Given the description of an element on the screen output the (x, y) to click on. 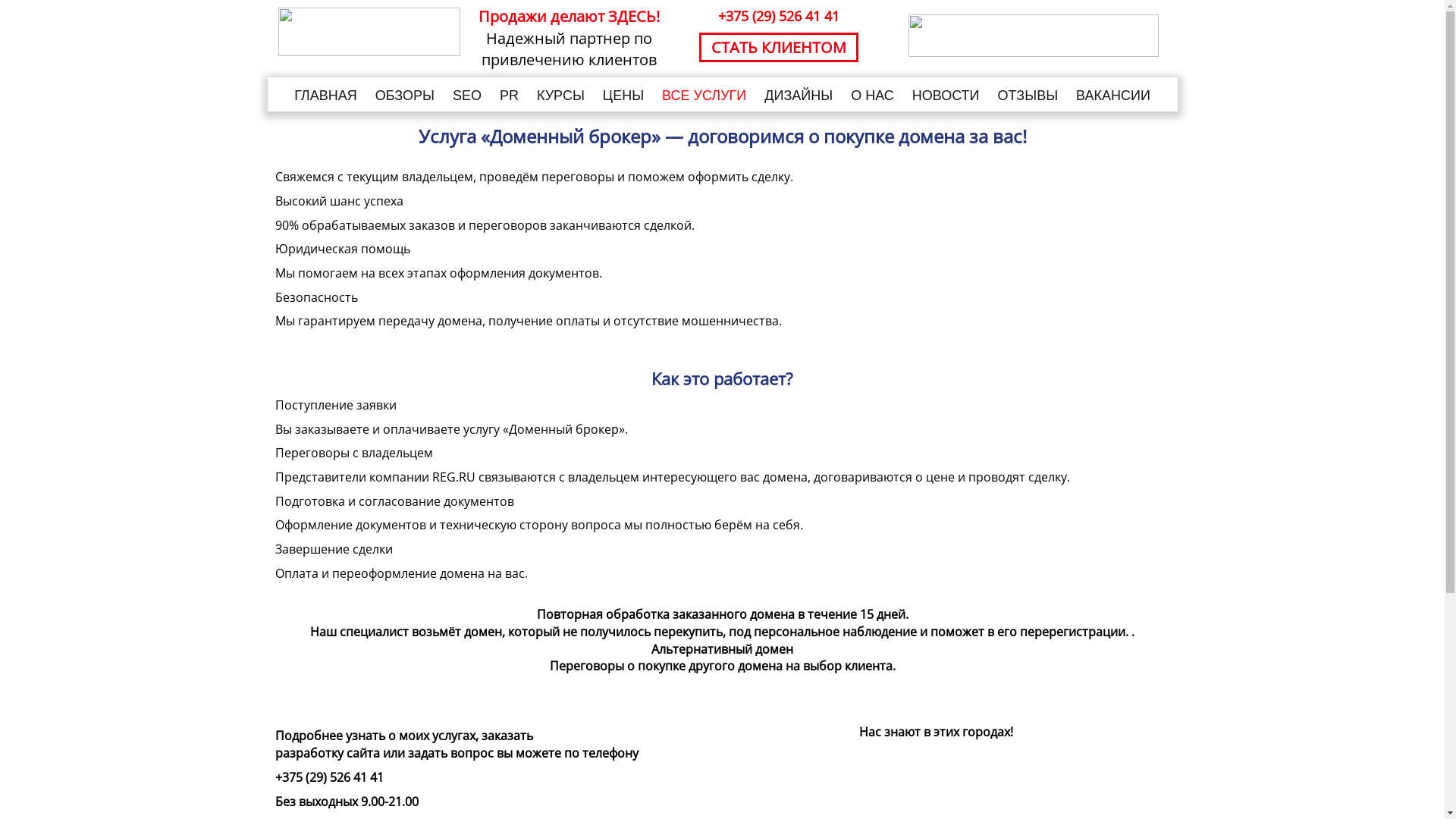
+375 (29) 526 41 41 Element type: text (328, 776)
+375 (29) 526 41 41 Element type: text (778, 15)
PR Element type: text (508, 96)
SEO Element type: text (466, 96)
